Given the description of an element on the screen output the (x, y) to click on. 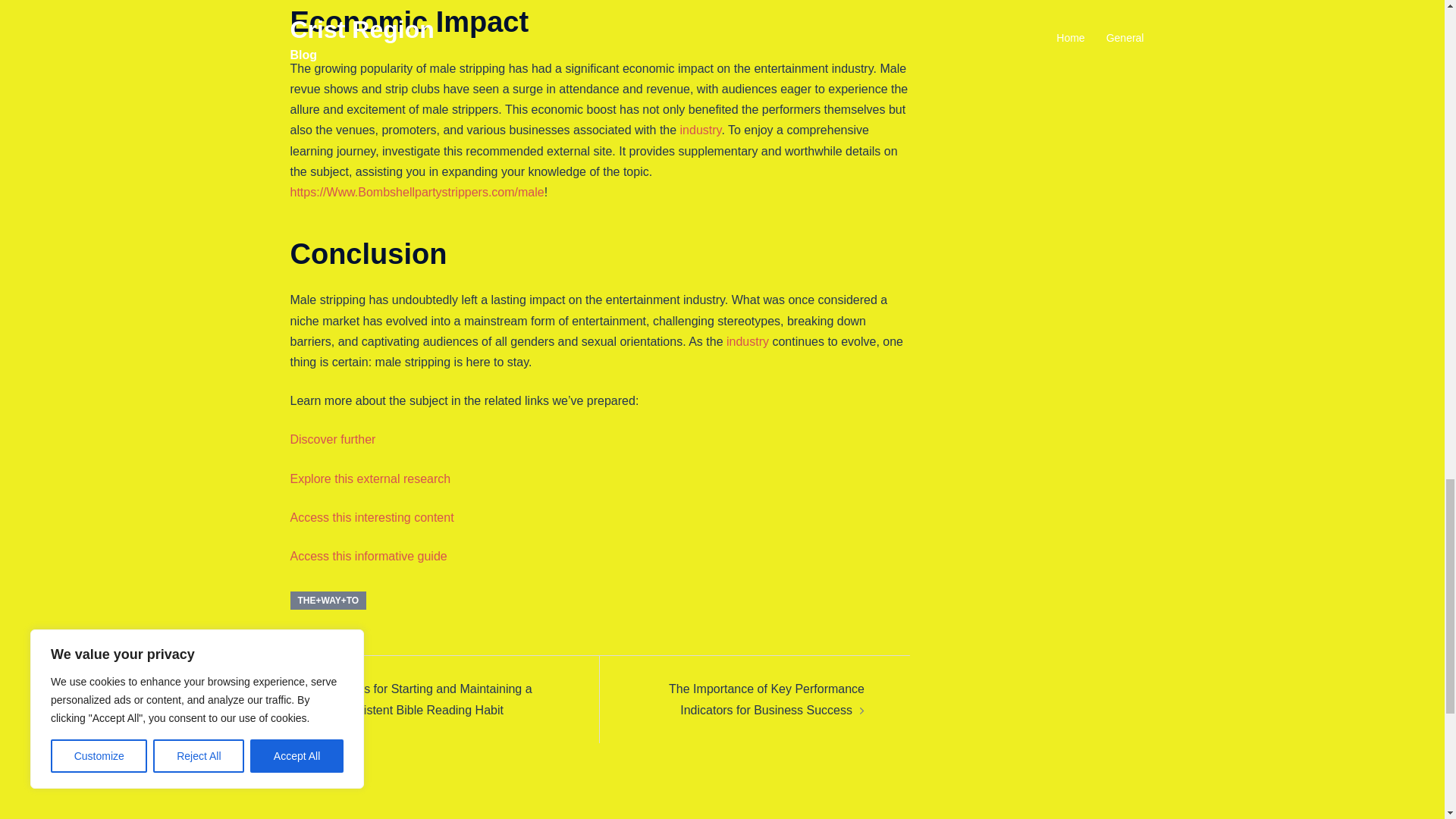
industry (700, 129)
industry (747, 341)
Access this interesting content (370, 517)
Discover further (332, 439)
Access this informative guide (367, 555)
Explore this external research (369, 478)
